Given the description of an element on the screen output the (x, y) to click on. 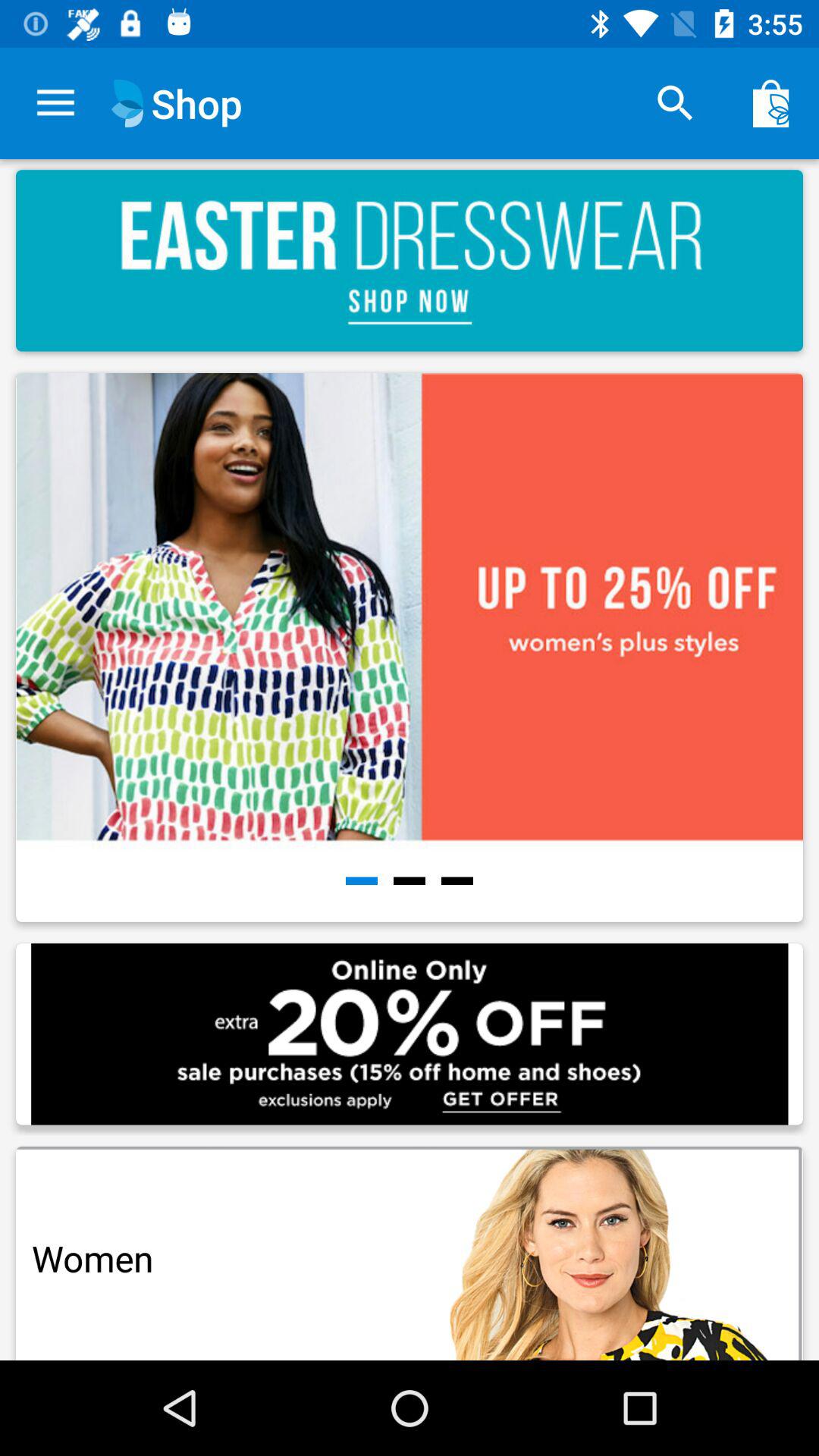
click the app next to shop item (675, 103)
